Given the description of an element on the screen output the (x, y) to click on. 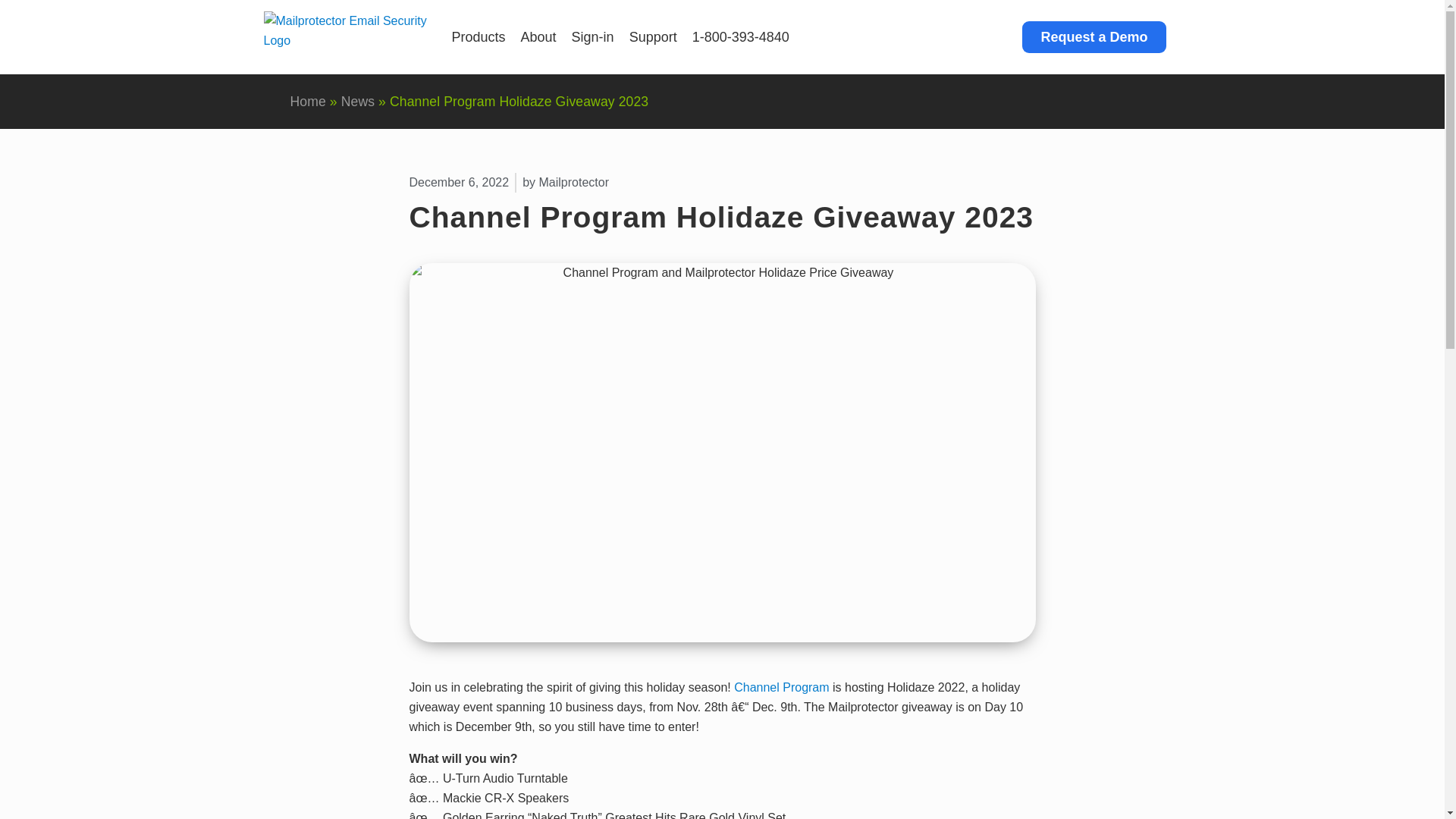
1-800-393-4840 (741, 37)
Sign-in (594, 37)
About (540, 37)
Support (654, 37)
Products (480, 37)
